Given the description of an element on the screen output the (x, y) to click on. 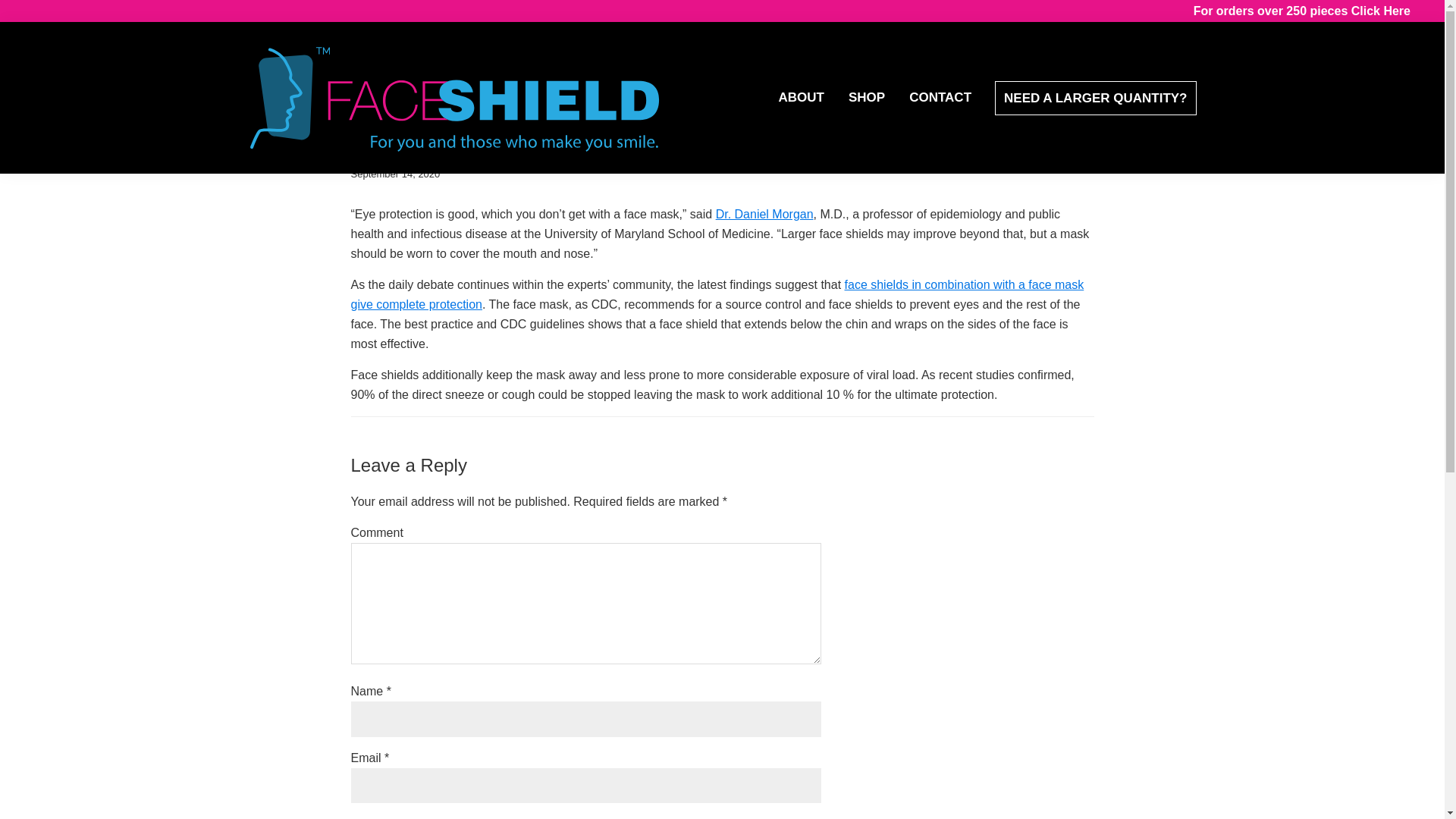
SHOP (866, 96)
ABOUT (801, 96)
NEED A LARGER QUANTITY? (1095, 97)
For orders over 250 pieces Click Here (1301, 11)
Home (249, 83)
Dr. Daniel Morgan (764, 214)
What Experts Say (318, 83)
CONTACT (940, 96)
